Given the description of an element on the screen output the (x, y) to click on. 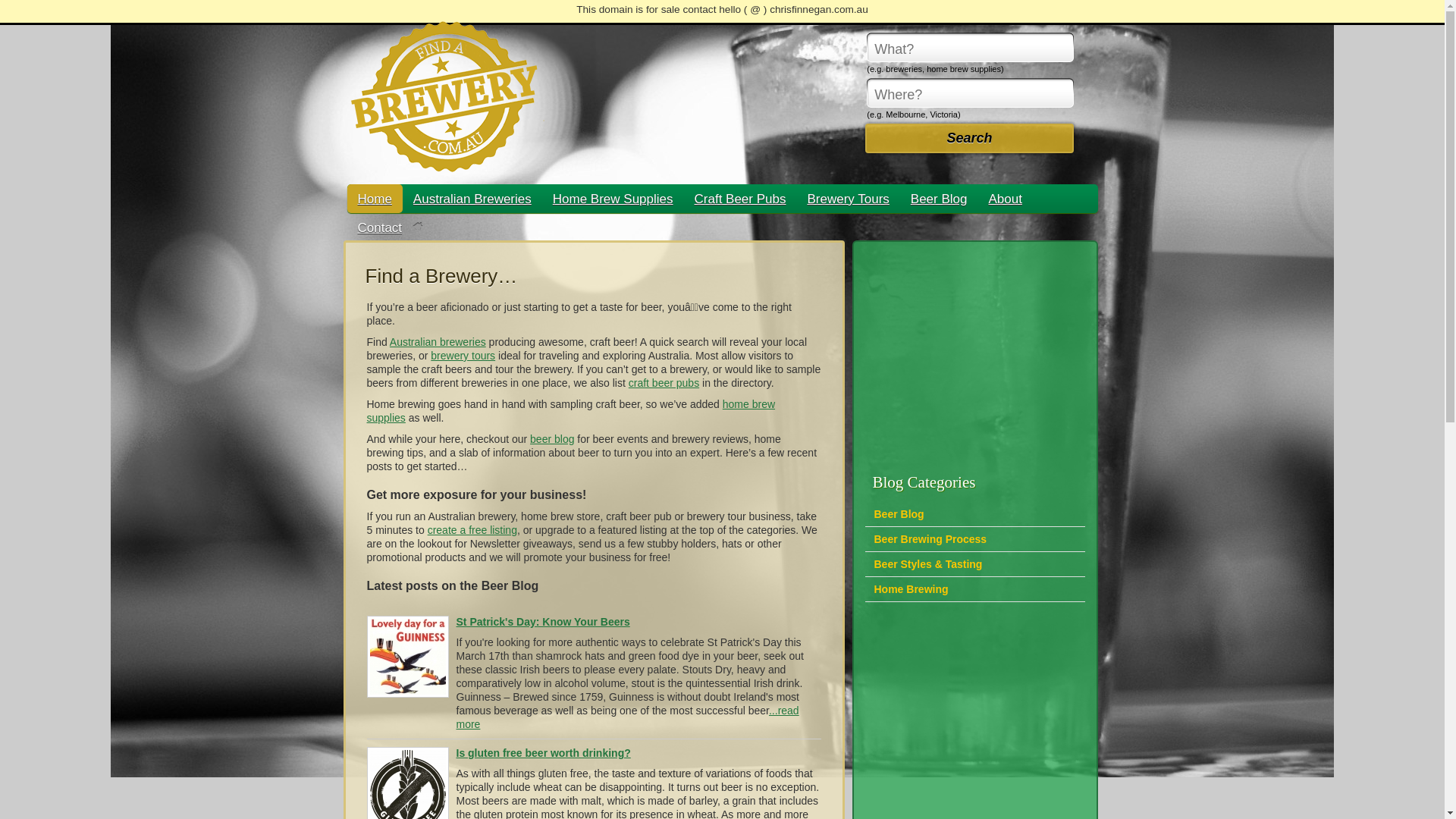
Is gluten free beer worth drinking? Element type: text (543, 752)
Brewery Tours Element type: text (847, 198)
Advertisement Element type: hover (974, 708)
create a free listing Element type: text (472, 530)
...read more Element type: text (627, 717)
Contact Element type: text (380, 227)
Advertisement Element type: hover (974, 351)
Search Element type: text (969, 138)
beer blog Element type: text (552, 439)
About Element type: text (1004, 198)
Beer Styles & Tasting Element type: text (927, 564)
Beer Blog Element type: text (939, 198)
Home Brewing Element type: text (910, 589)
Home Brew Supplies Element type: text (613, 198)
Beer Blog Element type: text (898, 514)
Craft Beer Pubs Element type: text (740, 198)
home brew supplies Element type: text (571, 410)
St Patrick's Day: Know Your Beers Element type: text (543, 621)
brewery tours Element type: text (462, 355)
Australian Breweries Element type: text (472, 198)
craft beer pubs Element type: text (663, 382)
Beer Brewing Process Element type: text (929, 539)
Home Element type: text (374, 198)
Australian breweries Element type: text (437, 341)
